Given the description of an element on the screen output the (x, y) to click on. 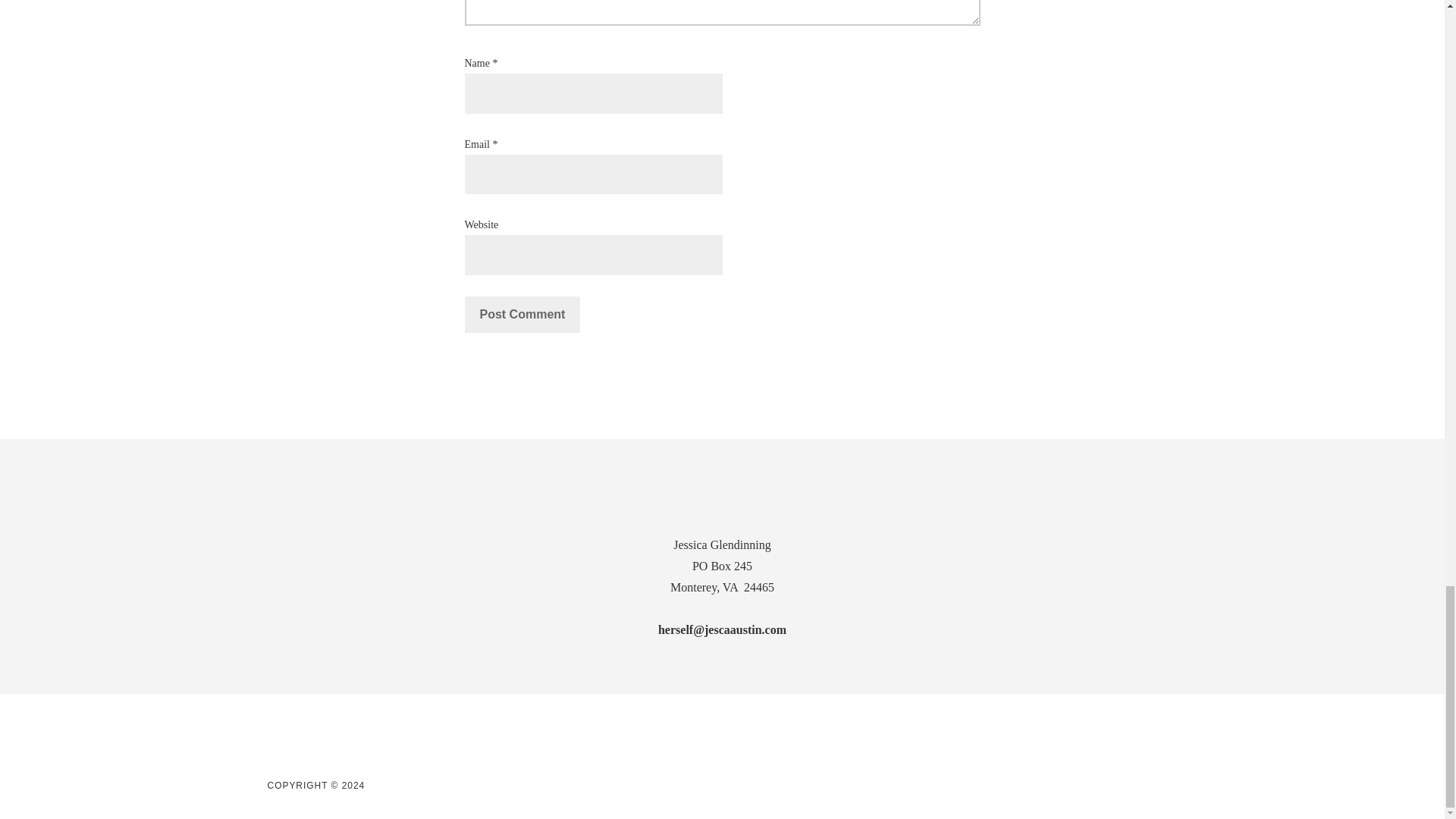
Post Comment (521, 314)
Post Comment (521, 314)
